Given the description of an element on the screen output the (x, y) to click on. 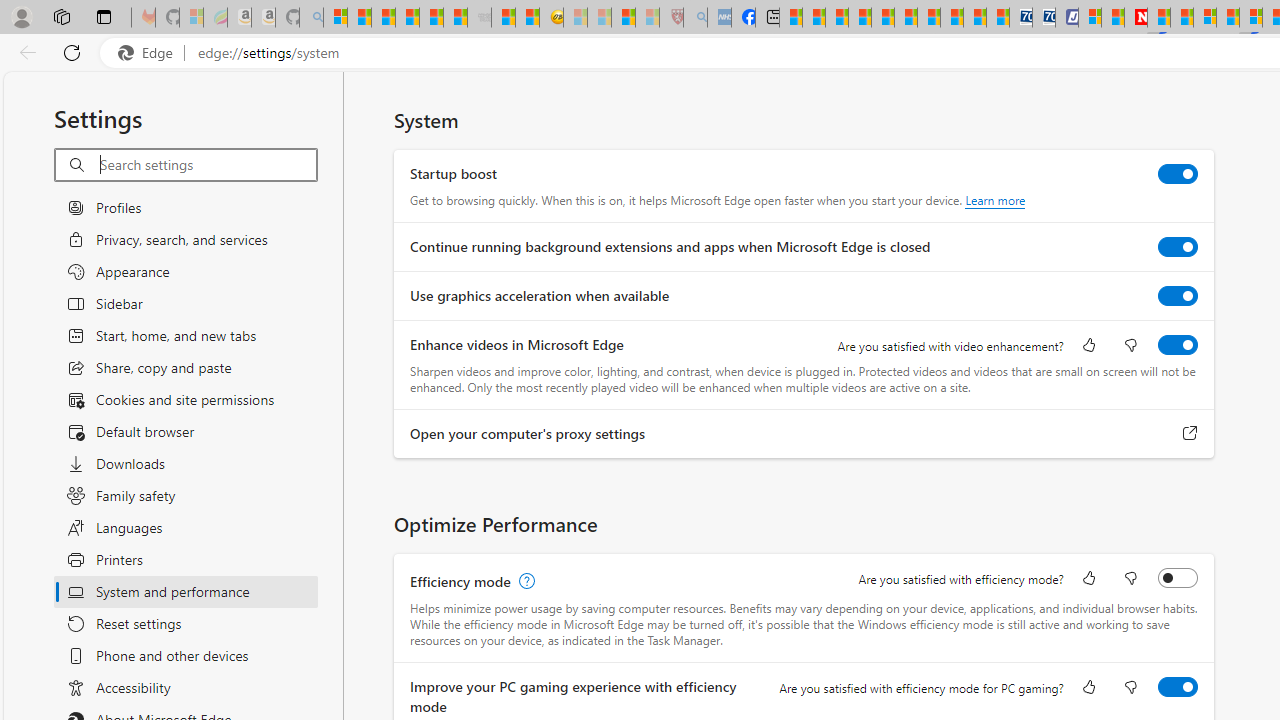
12 Popular Science Lies that Must be Corrected - Sleeping (647, 17)
Enhance videos in Microsoft Edge (1178, 344)
Efficiency mode, learn more (523, 582)
New Report Confirms 2023 Was Record Hot | Watch (430, 17)
Efficiency mode (1178, 578)
